Given the description of an element on the screen output the (x, y) to click on. 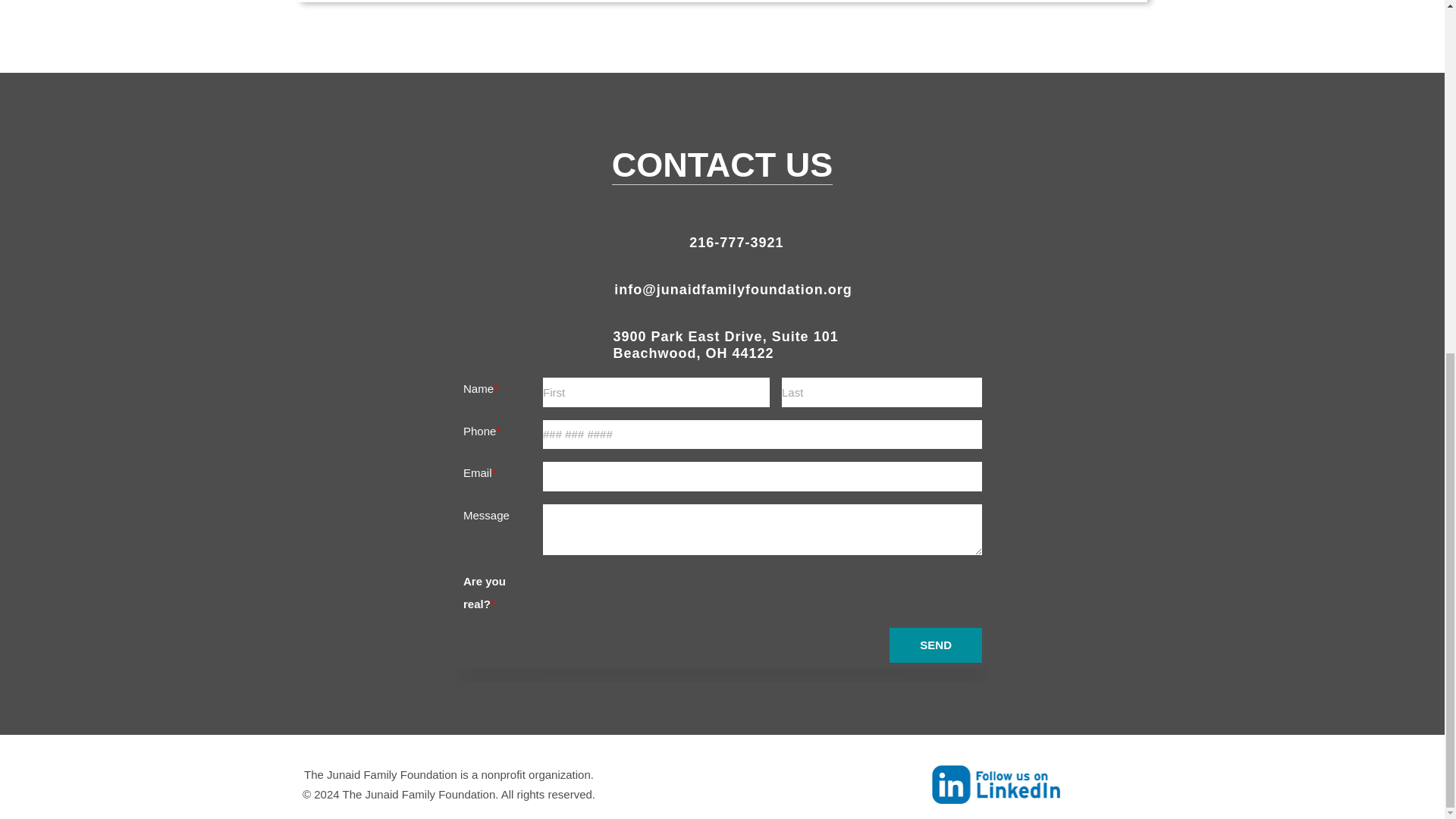
follow-us-on-linkedin (995, 783)
